Given the description of an element on the screen output the (x, y) to click on. 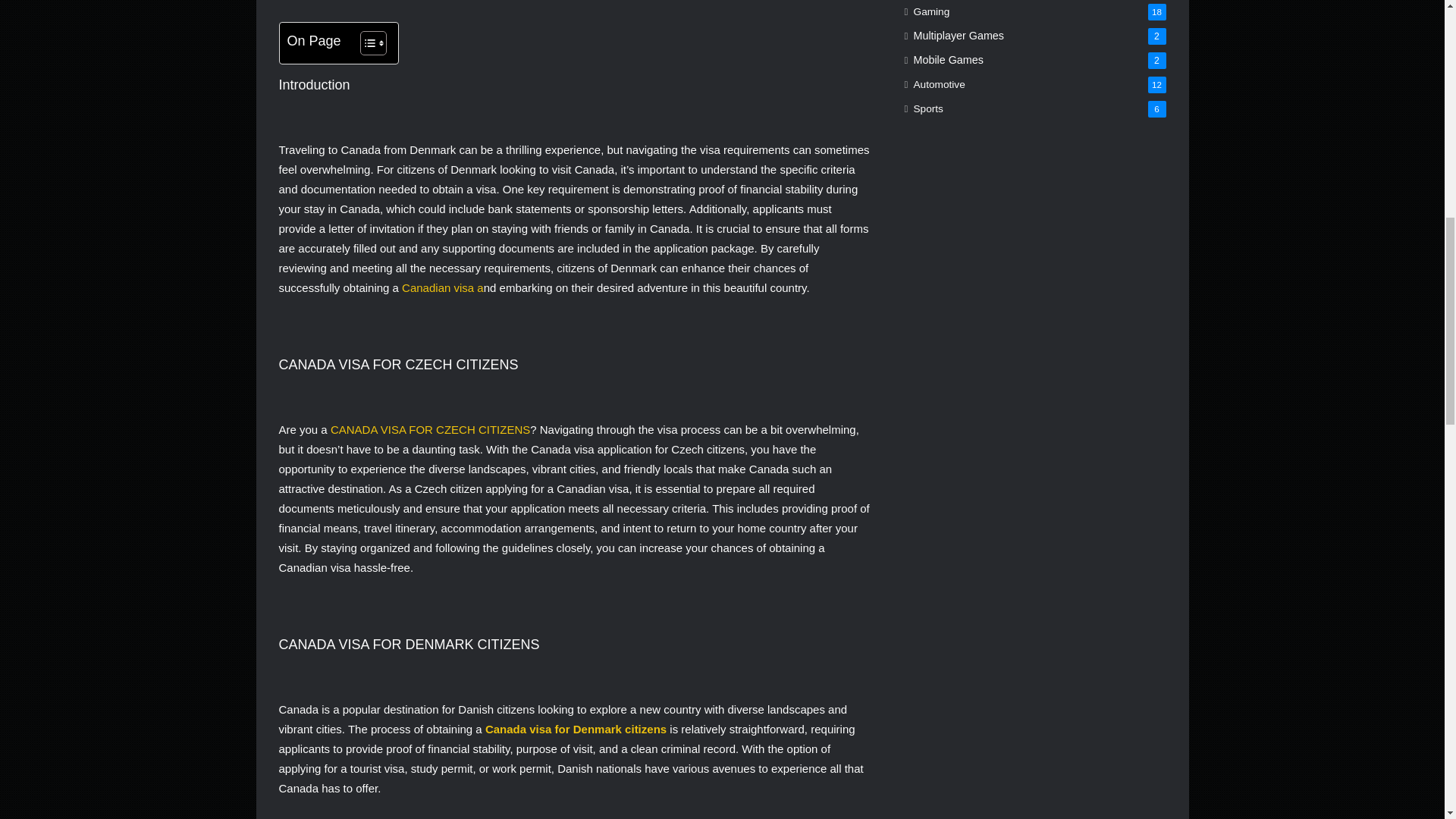
Canada visa for Denmark citizens (575, 728)
CANADA VISA FOR CZECH CITIZENS (429, 429)
Canadian visa a (440, 287)
